Given the description of an element on the screen output the (x, y) to click on. 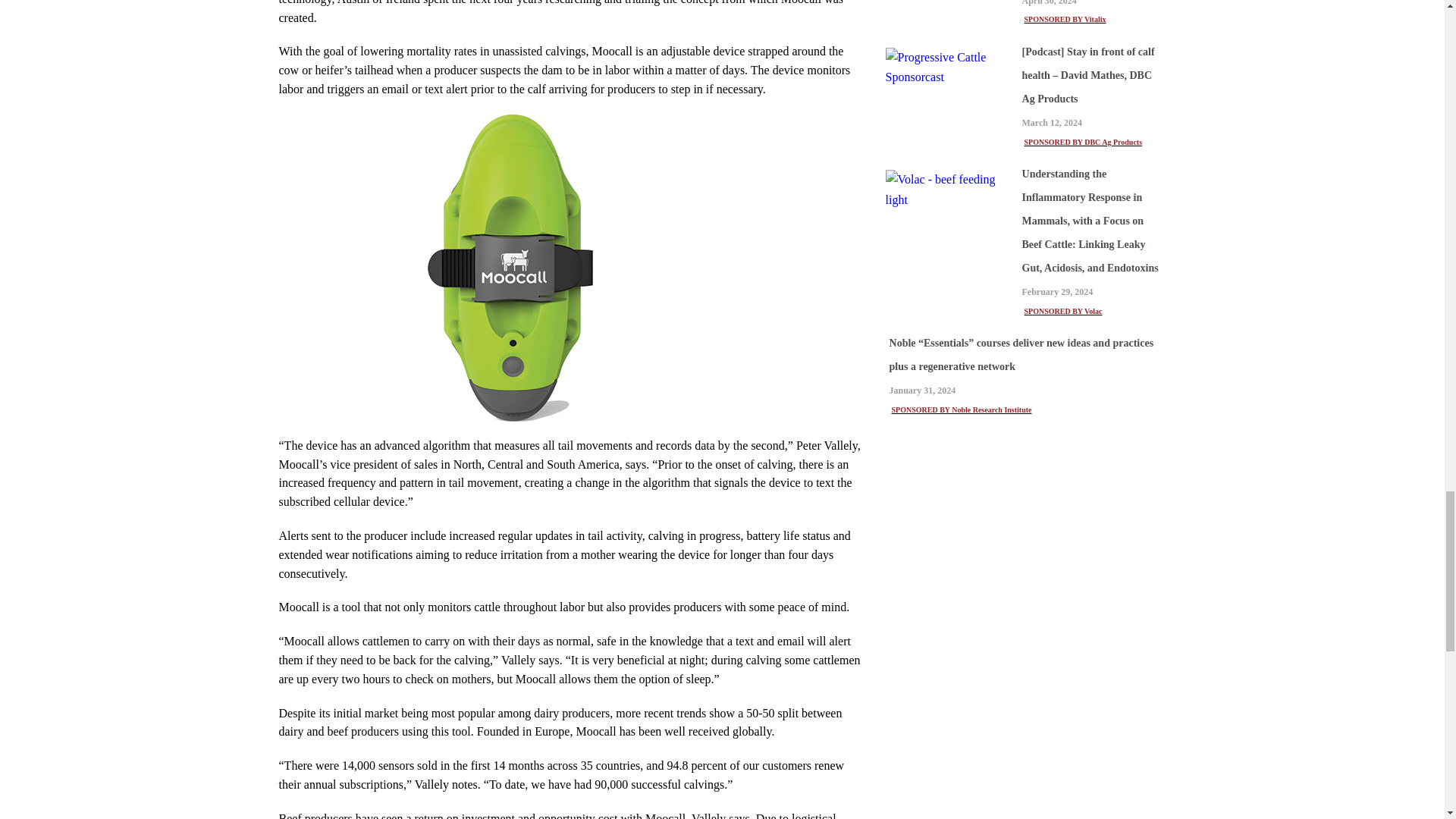
volac-beef-feedng-light.jpg (949, 189)
PC-sponsorcast-newsletter.png (949, 67)
